Given the description of an element on the screen output the (x, y) to click on. 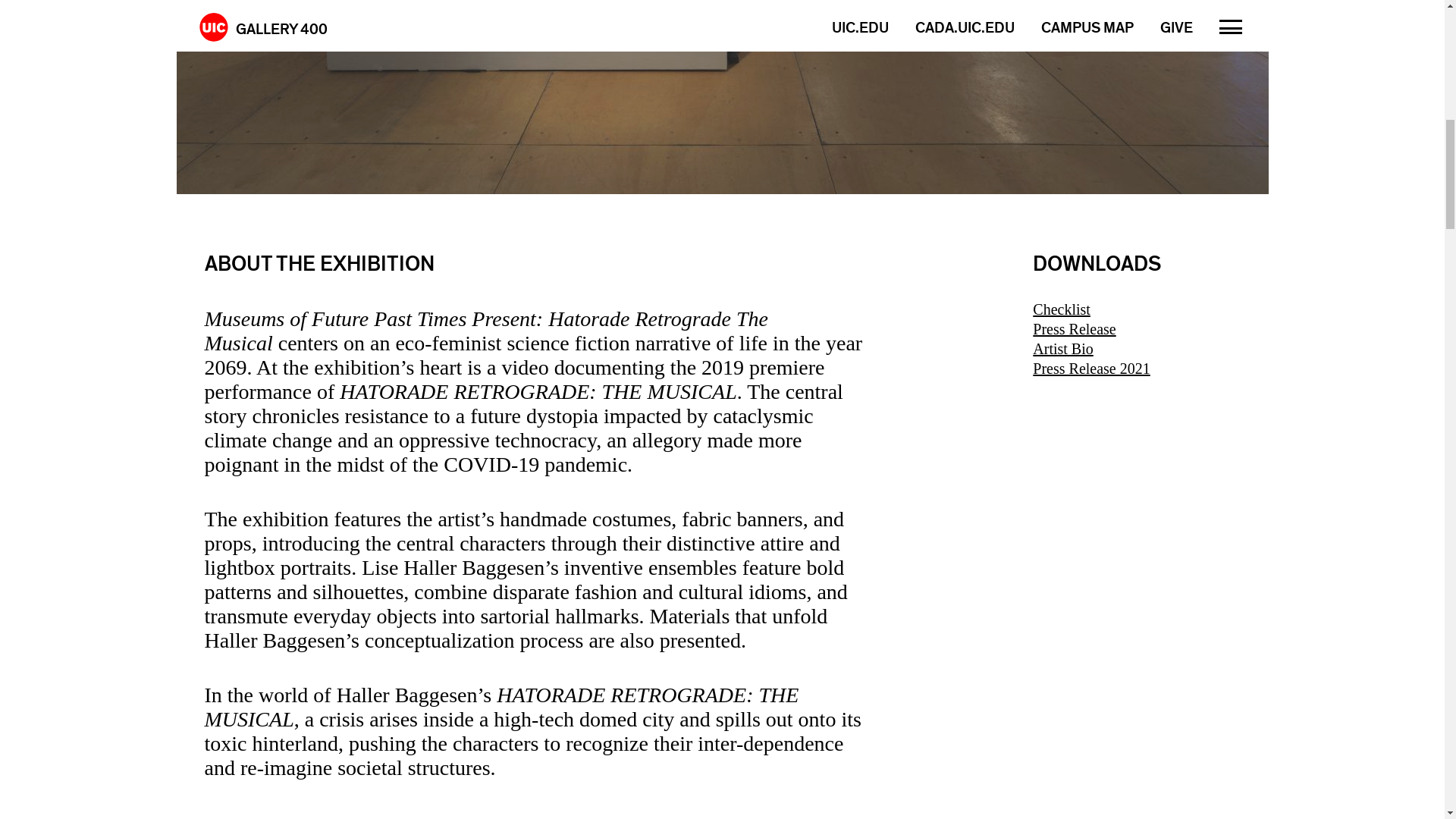
Checklist (1136, 309)
Press Release (1136, 329)
